Given the description of an element on the screen output the (x, y) to click on. 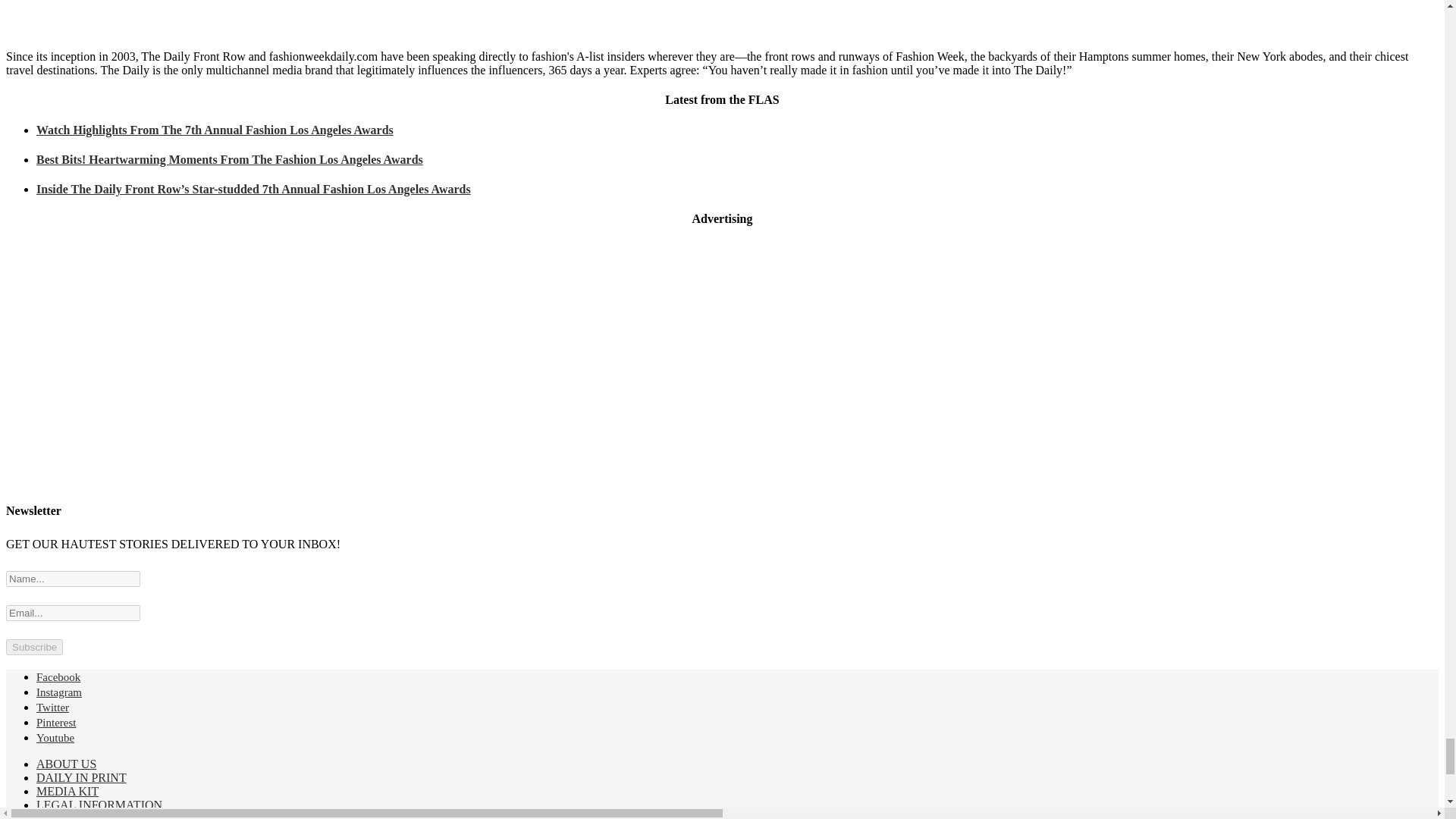
Subscribe (33, 647)
